Given the description of an element on the screen output the (x, y) to click on. 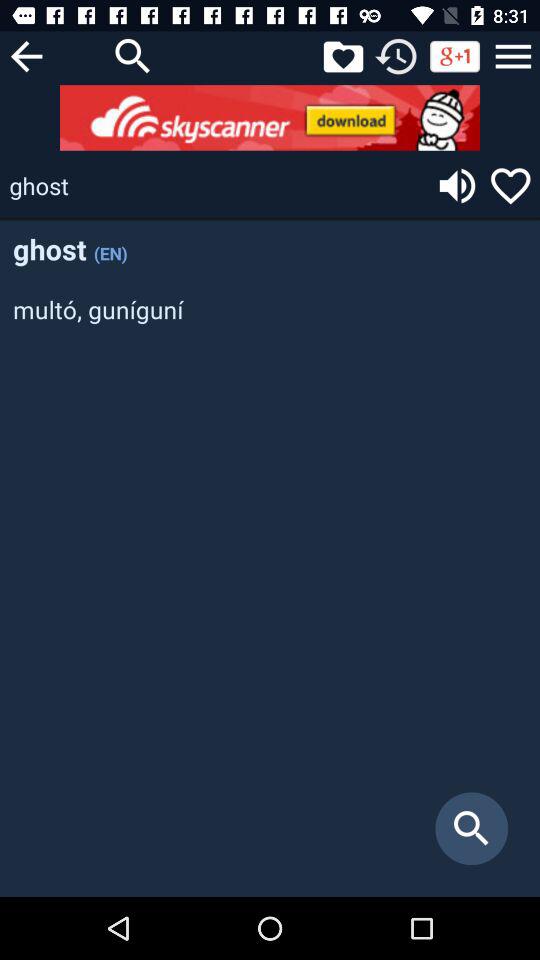
go to back (26, 56)
